Given the description of an element on the screen output the (x, y) to click on. 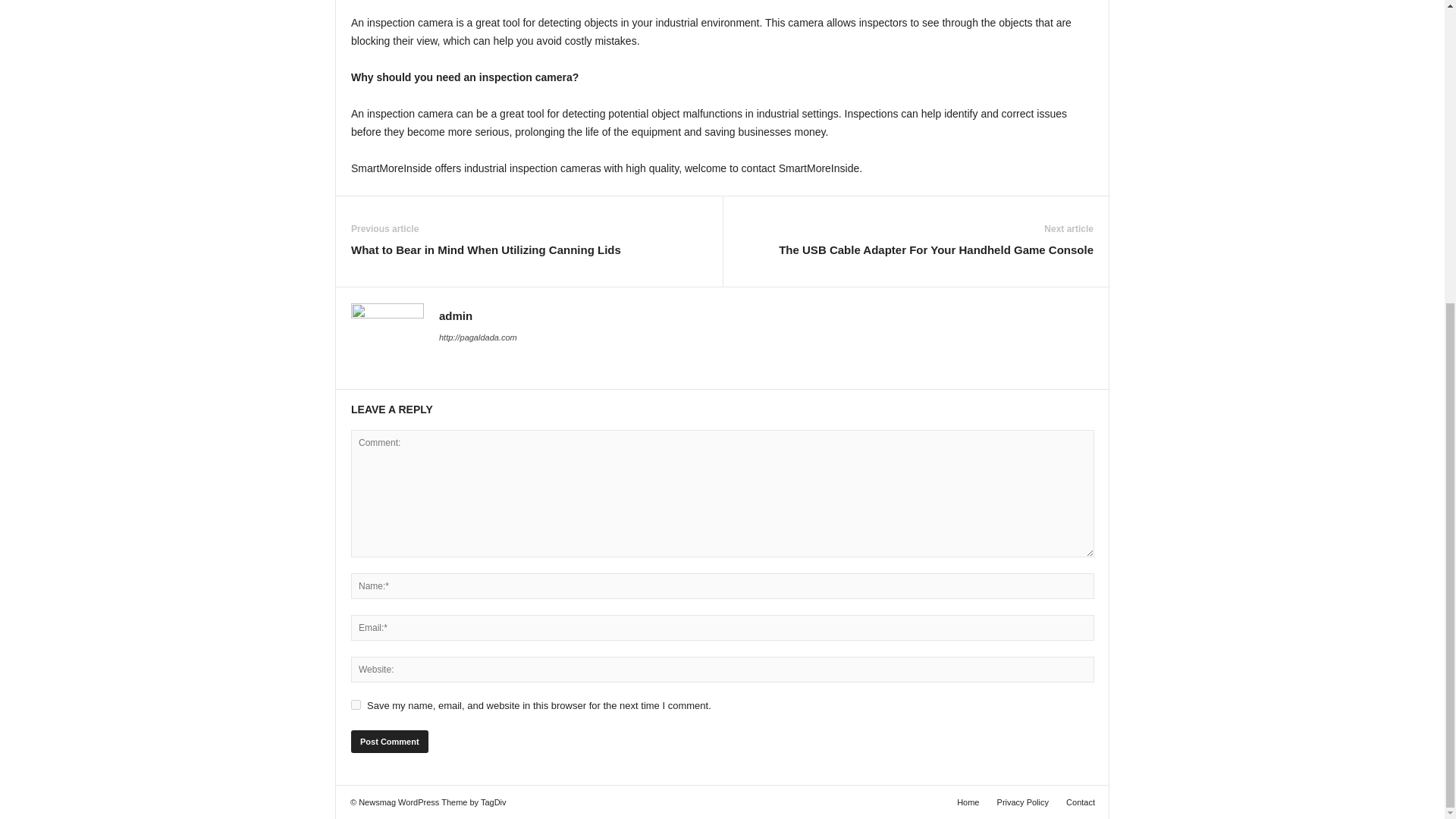
The USB Cable Adapter For Your Handheld Game Console (935, 249)
Post Comment (389, 741)
Post Comment (389, 741)
Privacy Policy (1023, 801)
Home (968, 801)
What to Bear in Mind When Utilizing Canning Lids (485, 249)
Contact (1076, 801)
yes (355, 705)
admin (455, 315)
